Given the description of an element on the screen output the (x, y) to click on. 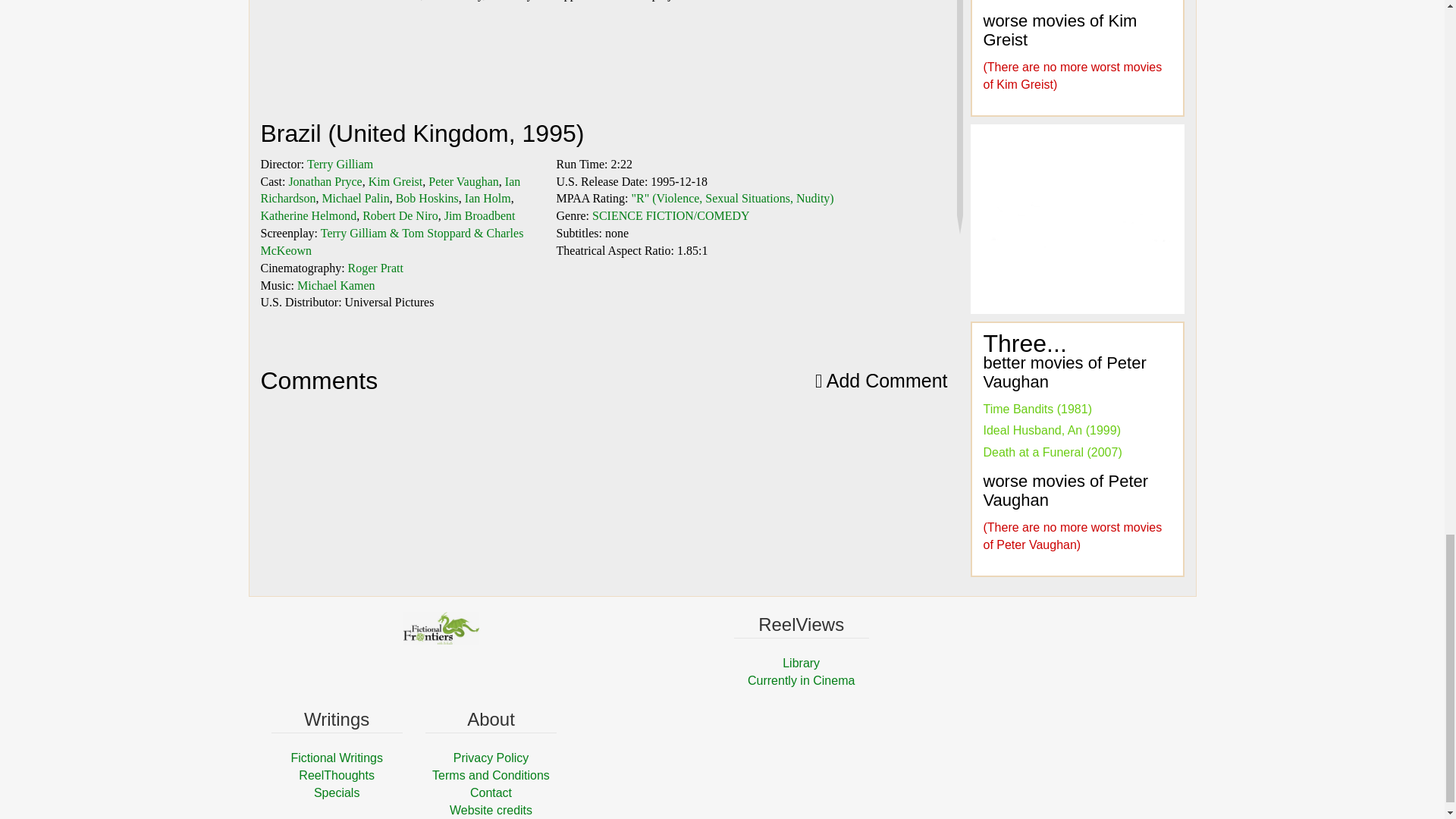
View all reviews for movies starring Ian Holm (487, 197)
View all reviews for movies starring Peter Vaughan (463, 181)
View all reviews for movies starring Bob Hoskins (427, 197)
Katherine Helmond (308, 215)
Ian Richardson (390, 190)
Peter Vaughan (463, 181)
View all reviews for movies starring Jim Broadbent (479, 215)
Michael Palin (354, 197)
Roger Pratt (375, 267)
View all reviews for movies starring Ian Richardson (390, 190)
Robert De Niro (400, 215)
Ian Holm (487, 197)
View all reviews for movies starring Kim Greist (395, 181)
Terry Gilliam (339, 164)
View all reviews for movies starring Robert De Niro (400, 215)
